Given the description of an element on the screen output the (x, y) to click on. 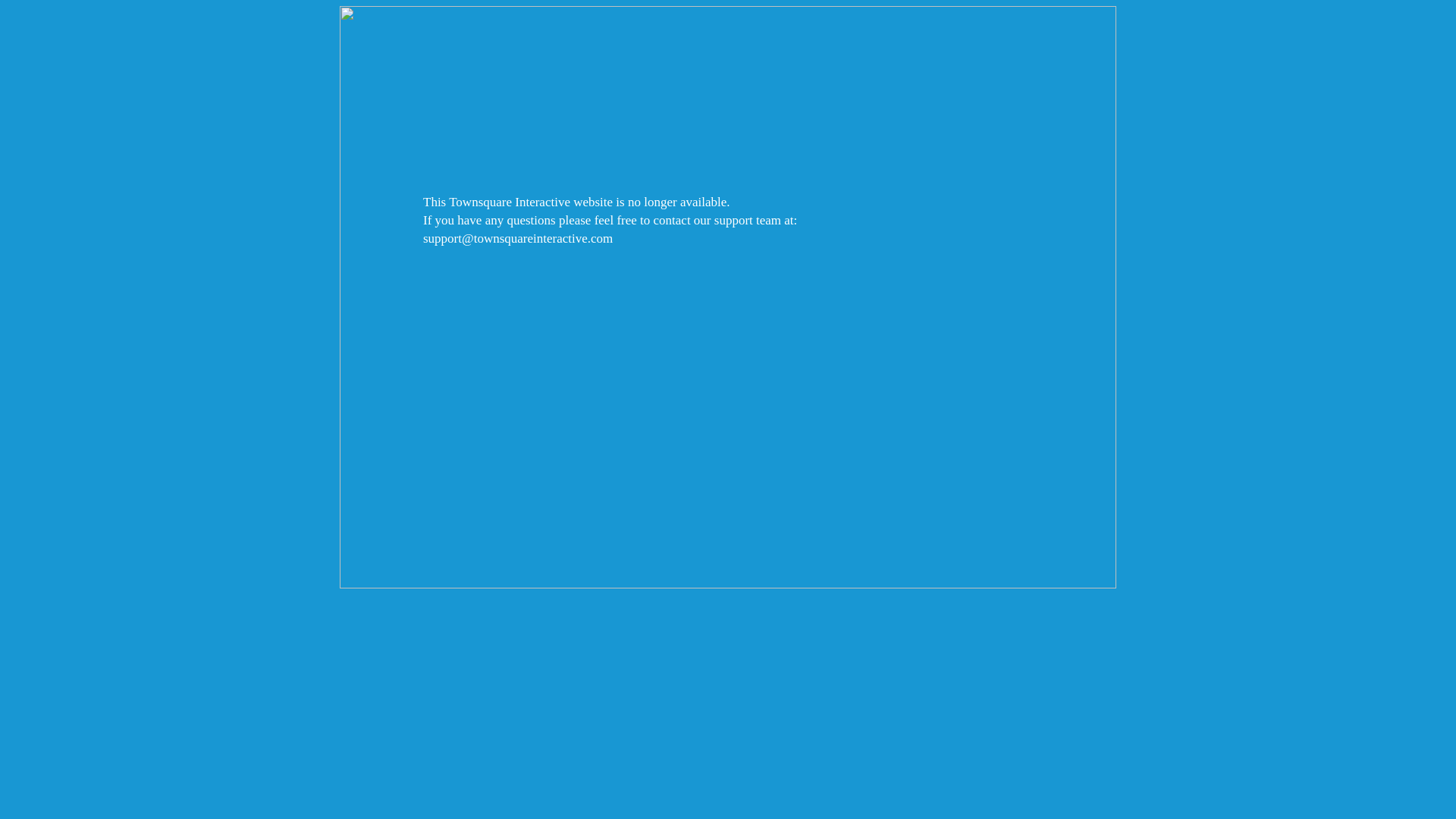
Townsquare Interactive Element type: hover (727, 297)
